Given the description of an element on the screen output the (x, y) to click on. 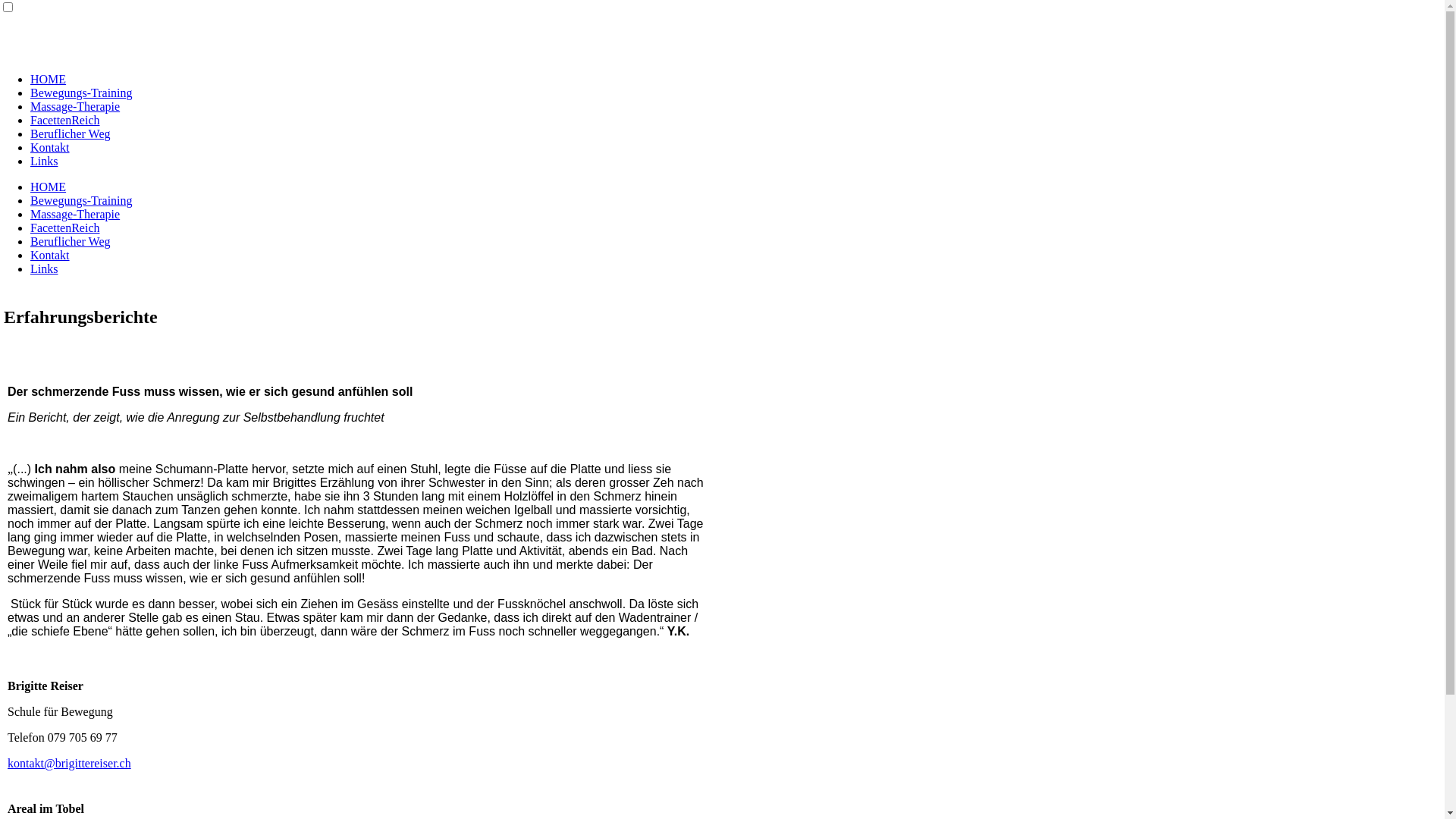
HOME Element type: text (47, 186)
kontakt@brigittereiser.ch Element type: text (69, 762)
HOME Element type: text (47, 78)
Beruflicher Weg Element type: text (69, 133)
Kontakt Element type: text (49, 147)
Massage-Therapie Element type: text (74, 106)
Bewegungs-Training Element type: text (81, 92)
Kontakt Element type: text (49, 254)
FacettenReich Element type: text (65, 227)
Beruflicher Weg Element type: text (69, 241)
Bewegungs-Training Element type: text (81, 200)
Massage-Therapie Element type: text (74, 213)
Links Element type: text (43, 160)
Links Element type: text (43, 268)
FacettenReich Element type: text (65, 119)
